Given the description of an element on the screen output the (x, y) to click on. 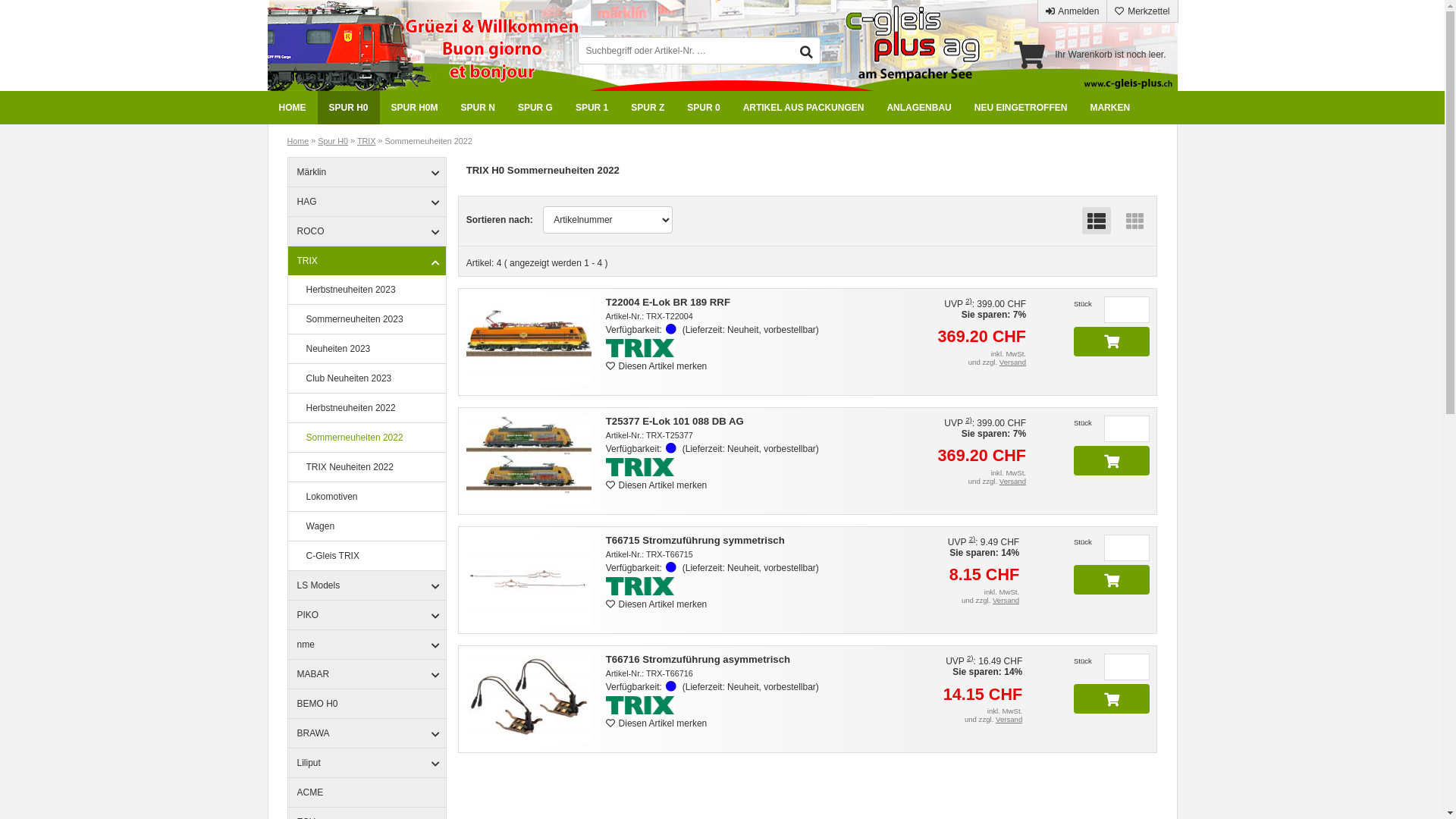
Lieferzeit: Neuheit, vorbestellbar Element type: hover (670, 329)
Neuheiten 2023 Element type: text (371, 348)
MABAR Element type: text (367, 674)
Herbstneuheiten 2022 Element type: text (371, 407)
Trix Element type: hover (639, 467)
Wechseln der Produktdarstellung Element type: hover (1134, 220)
BEMO H0 Element type: text (367, 703)
Merkzettel Element type: text (1141, 11)
Diesen Artikel merken Element type: text (656, 485)
T22004 E-Lok BR 189 RRF Element type: text (667, 301)
Versand Element type: text (1012, 361)
Herbstneuheiten 2023 Element type: text (371, 289)
TRIX Element type: text (366, 140)
ANLAGENBAU Element type: text (918, 107)
SPUR H0 Element type: text (347, 107)
Suche starten Element type: hover (806, 50)
ROCO Element type: text (367, 231)
Sommerneuheiten 2023 Element type: text (371, 318)
Versand Element type: text (1008, 719)
MARKEN Element type: text (1109, 107)
ARTIKEL AUS PACKUNGEN Element type: text (803, 107)
HOME Element type: text (291, 107)
Trix Element type: hover (639, 705)
SPUR H0M Element type: text (414, 107)
PIKO Element type: text (367, 615)
2) Element type: text (968, 419)
2) Element type: text (968, 300)
Zu Ihrem Warenkorb Element type: hover (1028, 55)
Alle Artikel vom Hersteller Trix anschauen Element type: hover (741, 706)
T22004-E-Lok-BR-189-RRF-TRX-T22004_s_0.JPG Element type: hover (528, 340)
T66716-Stromzufuehrung-asymmetrisch-TRX-T66716_s_0.JPG Element type: hover (528, 698)
TRIX Element type: text (367, 260)
Alle Artikel vom Hersteller Trix anschauen Element type: hover (741, 468)
BRAWA Element type: text (367, 733)
T22004 E-Lok BR 189 RRF Element type: hover (528, 341)
Diesen Artikel merken Element type: text (656, 604)
Lokomotiven Element type: text (371, 496)
Alle Artikel vom Hersteller Trix anschauen Element type: hover (741, 587)
C-Gleis TRIX Element type: text (371, 555)
Alle Artikel vom Hersteller Trix anschauen Element type: hover (741, 348)
Versand Element type: text (1012, 480)
T25377 E-Lok 101 088 DB AG Element type: hover (528, 460)
Spur H0 Element type: text (332, 140)
2) Element type: text (972, 538)
nme Element type: text (367, 644)
Home Element type: text (297, 140)
Lieferzeit: Neuheit, vorbestellbar Element type: hover (670, 567)
SPUR Z Element type: text (647, 107)
Wagen Element type: text (371, 525)
SPUR G Element type: text (535, 107)
c-gleis-plus ag Onlineshop - Home Element type: hover (342, 45)
2) Element type: text (969, 657)
Liliput Element type: text (367, 763)
NEU EINGETROFFEN Element type: text (1021, 107)
HAG Element type: text (367, 201)
Lieferzeit: Neuheit, vorbestellbar Element type: hover (670, 686)
Club Neuheiten 2023 Element type: text (371, 378)
LS Models Element type: text (367, 585)
Diesen Artikel merken Element type: text (656, 723)
T66715-Stromzufuehrung-symmetrisch-TRX-T66715_s_0.JPG Element type: hover (528, 579)
Versand Element type: text (1005, 600)
Anmelden Element type: text (1071, 11)
TRIX Neuheiten 2022 Element type: text (371, 466)
SPUR N Element type: text (477, 107)
Lieferzeit: Neuheit, vorbestellbar Element type: hover (670, 448)
Trix Element type: hover (639, 347)
SPUR 0 Element type: text (703, 107)
Diesen Artikel merken Element type: text (656, 365)
Trix Element type: hover (639, 586)
ACME Element type: text (367, 792)
Sommerneuheiten 2022 Element type: text (371, 437)
T25377 E-Lok 101 088 DB AG Element type: text (674, 420)
SPUR 1 Element type: text (591, 107)
T25377-E-Lok-101-088-DB-AG-TRX-T25377_s_0.JPG Element type: hover (528, 460)
